Given the description of an element on the screen output the (x, y) to click on. 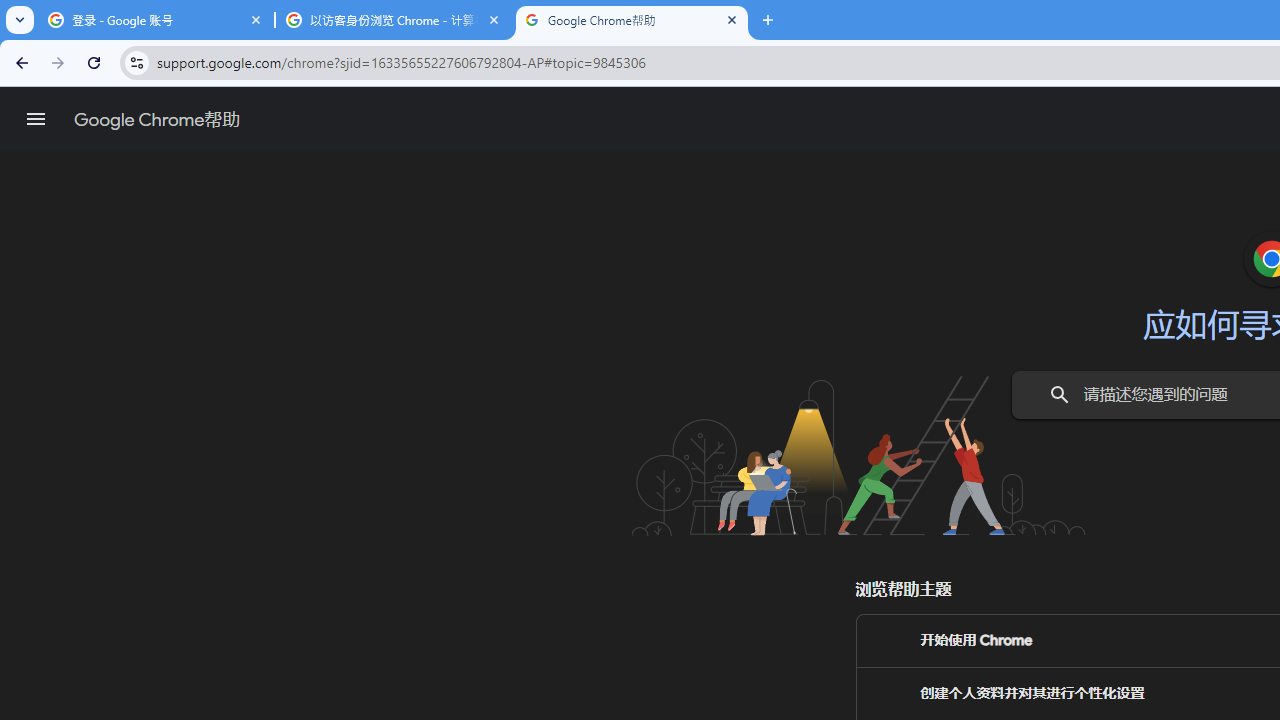
Forward (57, 62)
Back (19, 62)
View site information (136, 62)
Reload (93, 62)
Close (732, 19)
New Tab (767, 20)
System (10, 11)
Search tabs (20, 20)
System (10, 11)
